Given the description of an element on the screen output the (x, y) to click on. 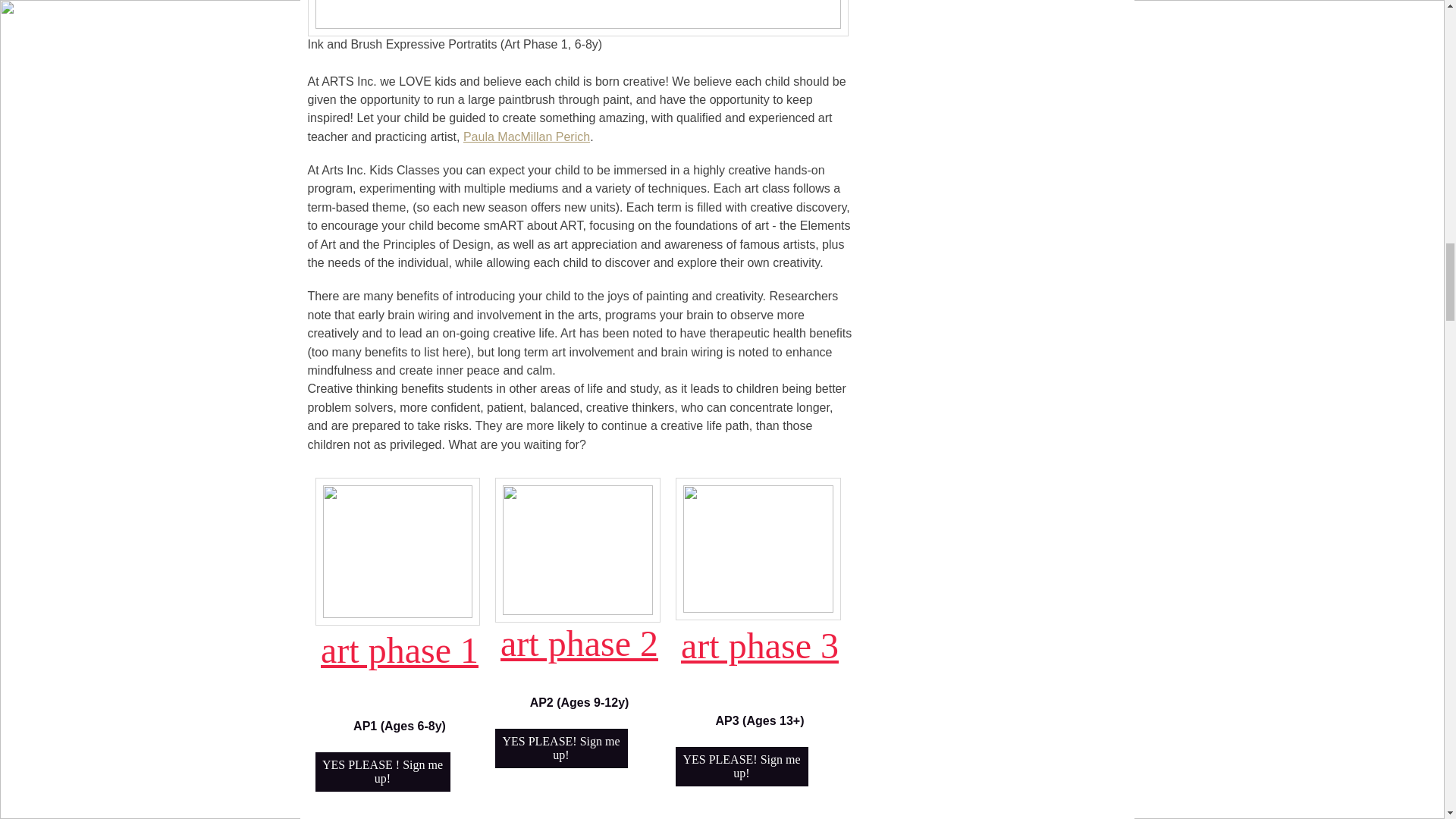
art phase 2 (579, 653)
YES PLEASE ! Sign me up! (382, 771)
YES PLEASE! Sign me up! (741, 765)
art phase 1 (399, 660)
art phase 3 (759, 655)
YES PLEASE! Sign me up! (561, 748)
Paula MacMillan Perich (526, 138)
